Given the description of an element on the screen output the (x, y) to click on. 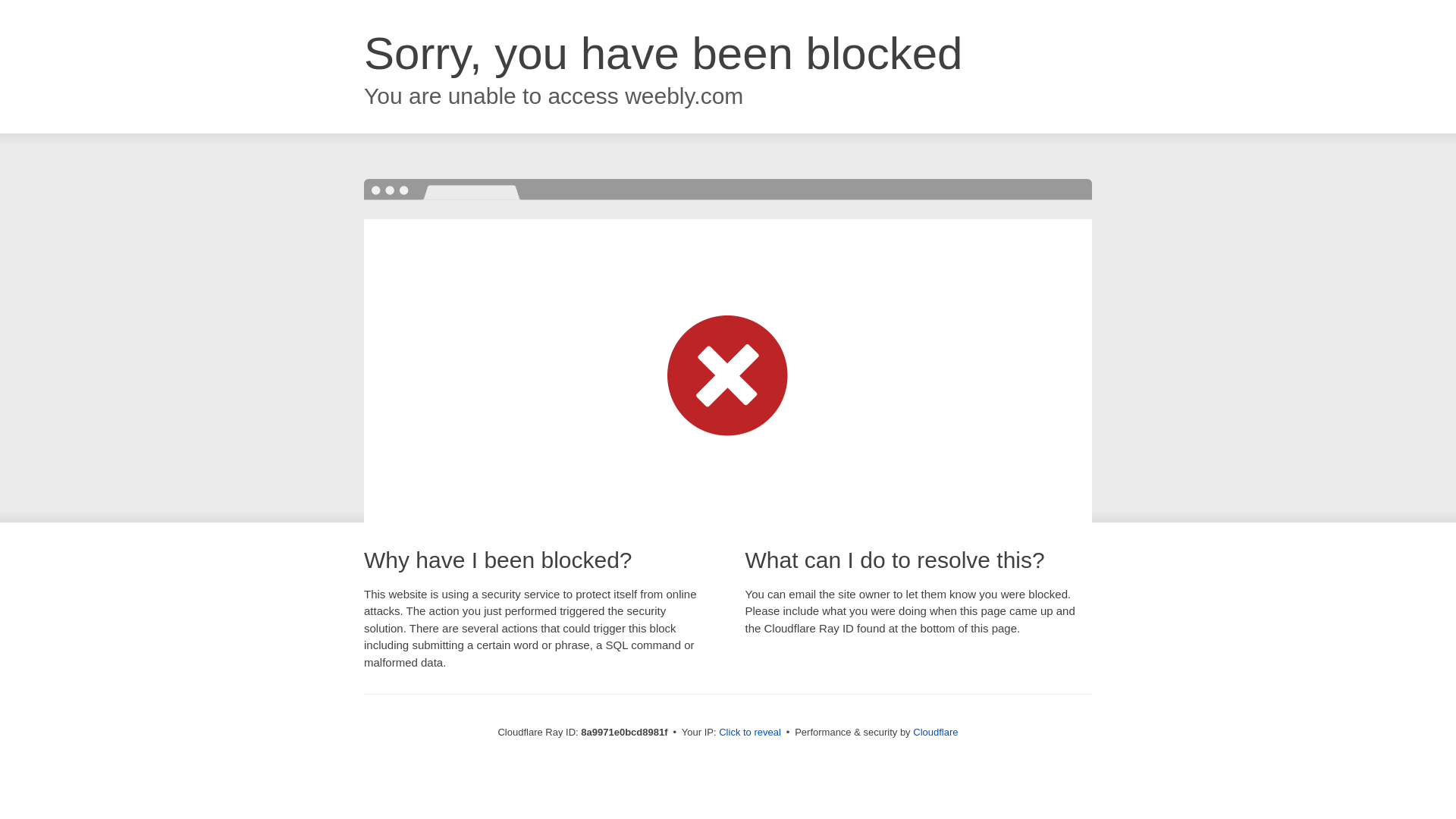
Cloudflare (935, 731)
Click to reveal (749, 732)
